Given the description of an element on the screen output the (x, y) to click on. 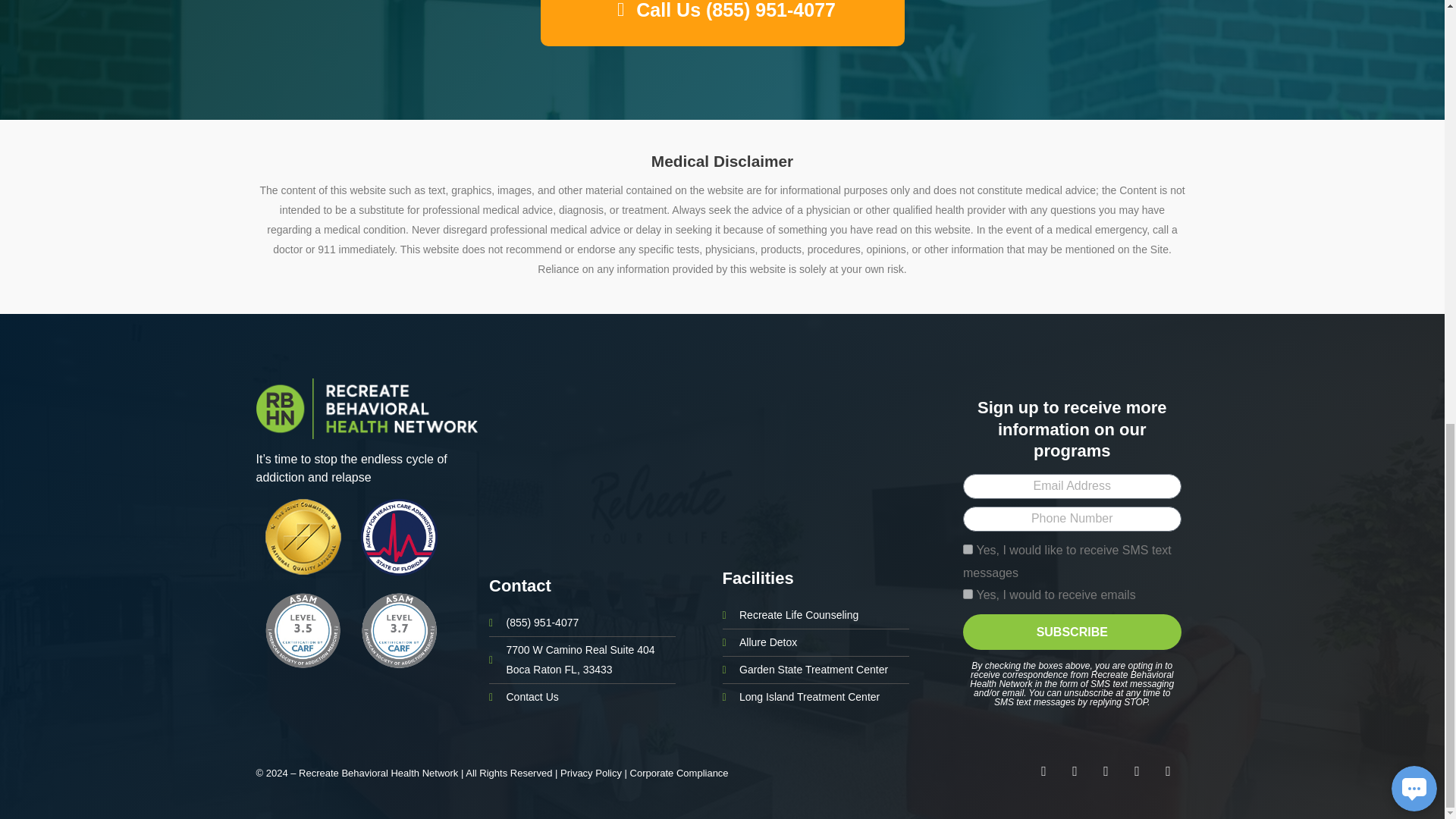
Yes, I would like to receive SMS text messages (967, 549)
Yes, I would to receive emails (967, 593)
